Given the description of an element on the screen output the (x, y) to click on. 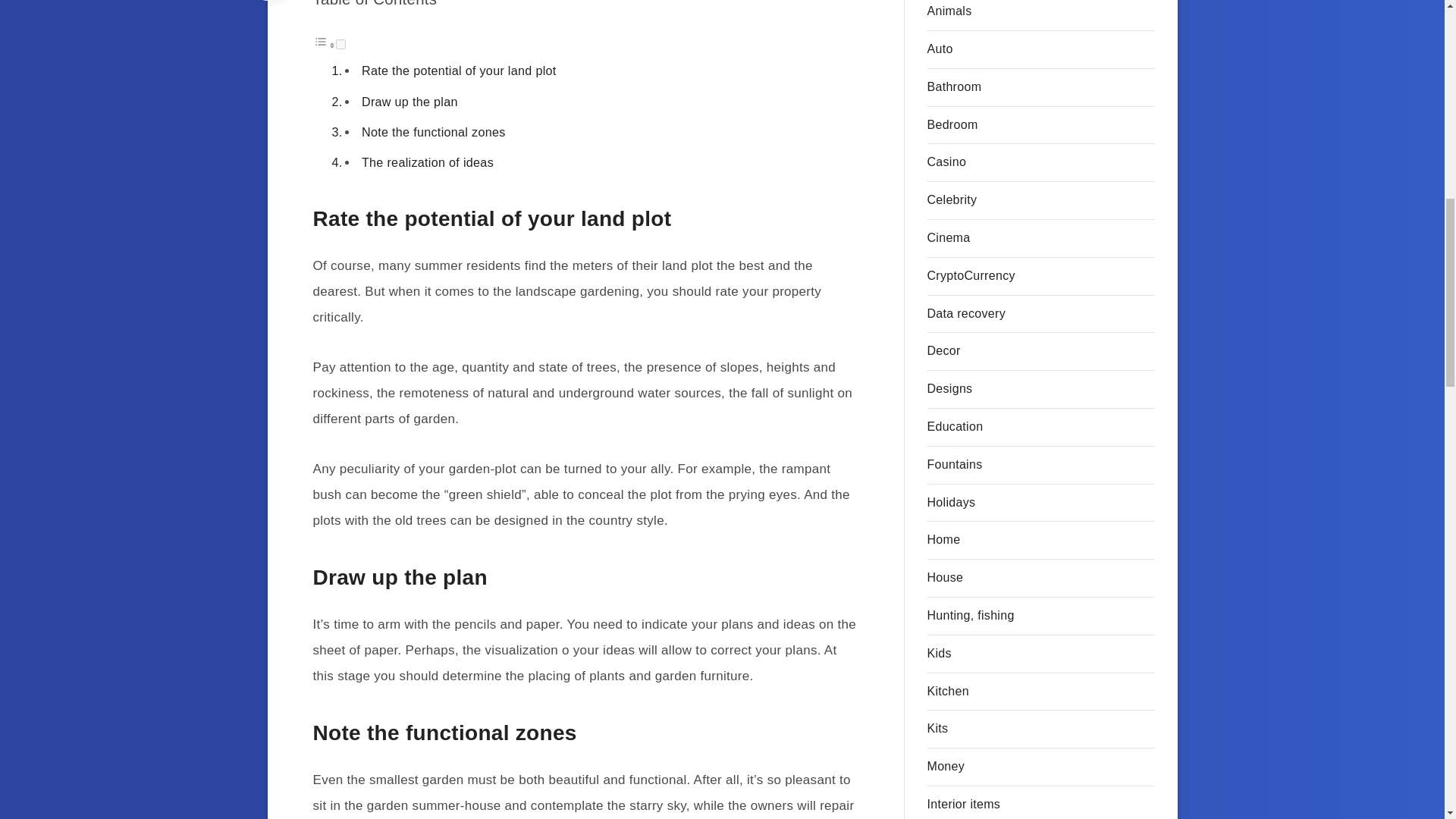
Rate the potential of your land plot (458, 69)
The realization of ideas (427, 161)
Note the functional zones (433, 131)
Draw up the plan (409, 101)
on (339, 44)
